Given the description of an element on the screen output the (x, y) to click on. 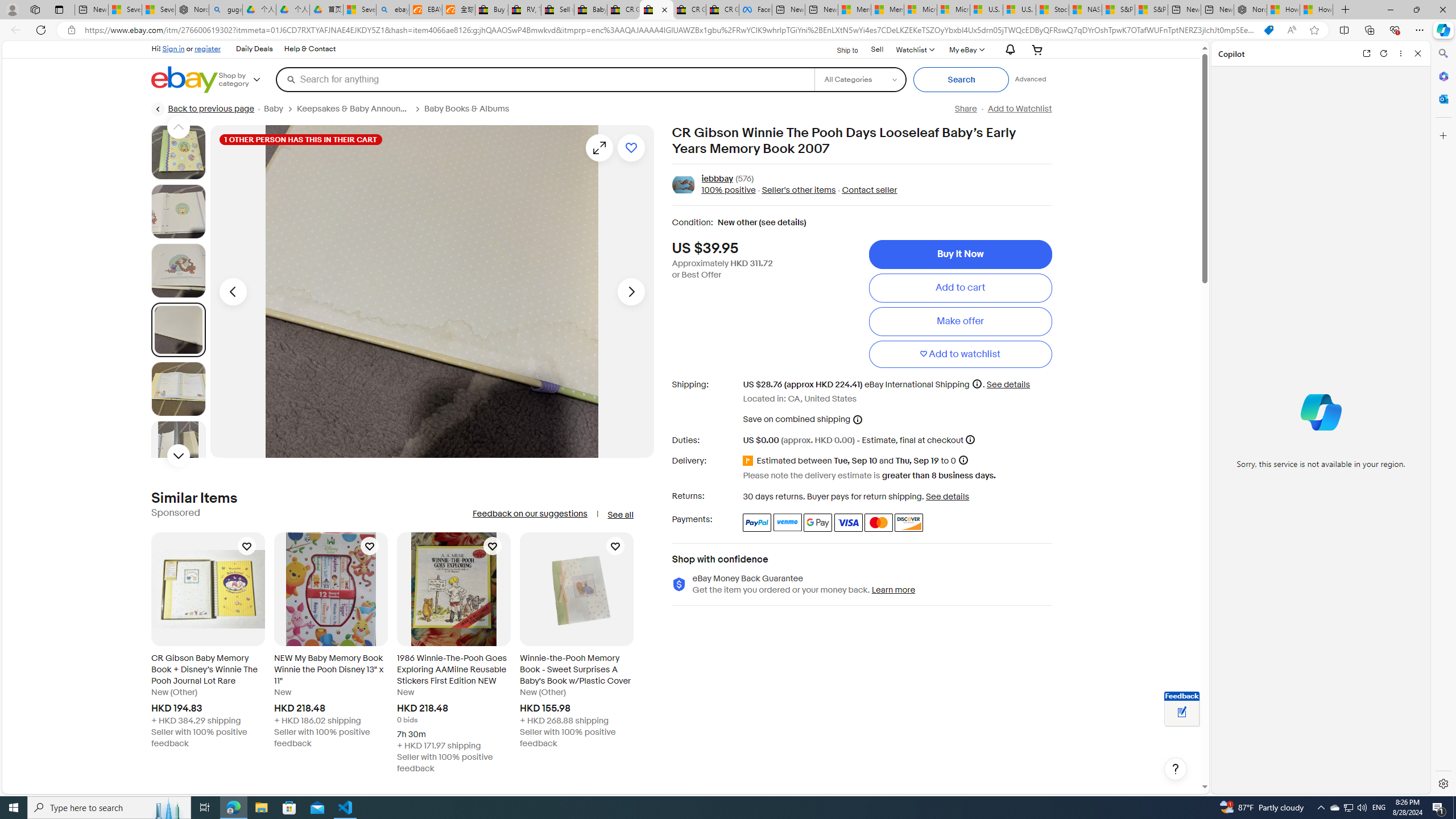
Back to previous page (202, 109)
100% positive (728, 190)
Seller's other items (798, 190)
Help, opens dialogs (1175, 768)
guge yunpan - Search (225, 9)
Picture 5 of 22 (178, 388)
Feedback on our suggestions (529, 513)
Expand Cart (1037, 49)
Information - Estimated delivery date - opens a layer (962, 460)
Baby (280, 108)
